Given the description of an element on the screen output the (x, y) to click on. 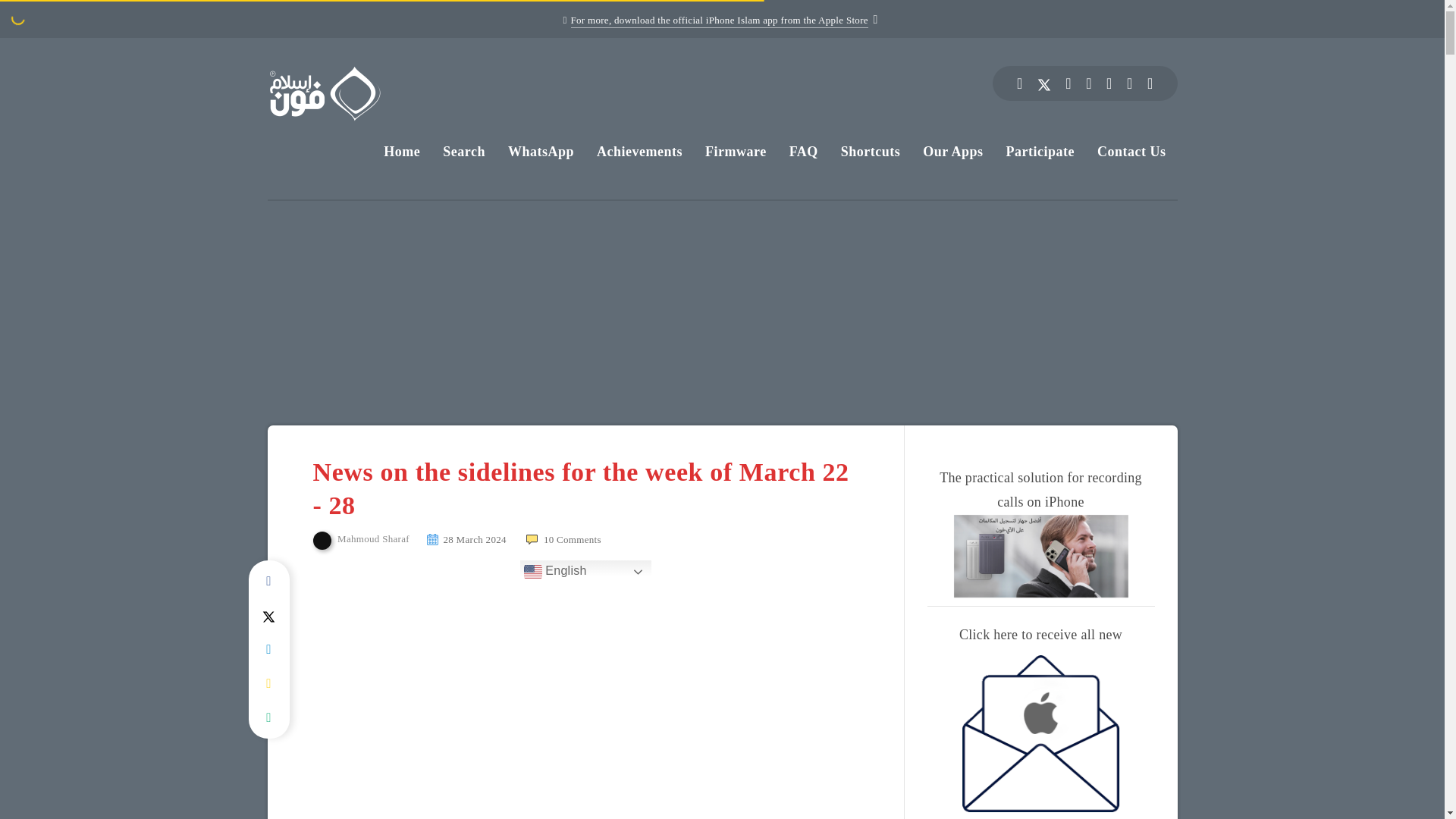
Our Apps (952, 151)
10 Comments (562, 539)
Achievements (639, 151)
Search (463, 151)
Participate (1040, 151)
FAQ (803, 151)
WhatsApp (540, 151)
Contact Us (1131, 151)
Firmware (735, 151)
